Given the description of an element on the screen output the (x, y) to click on. 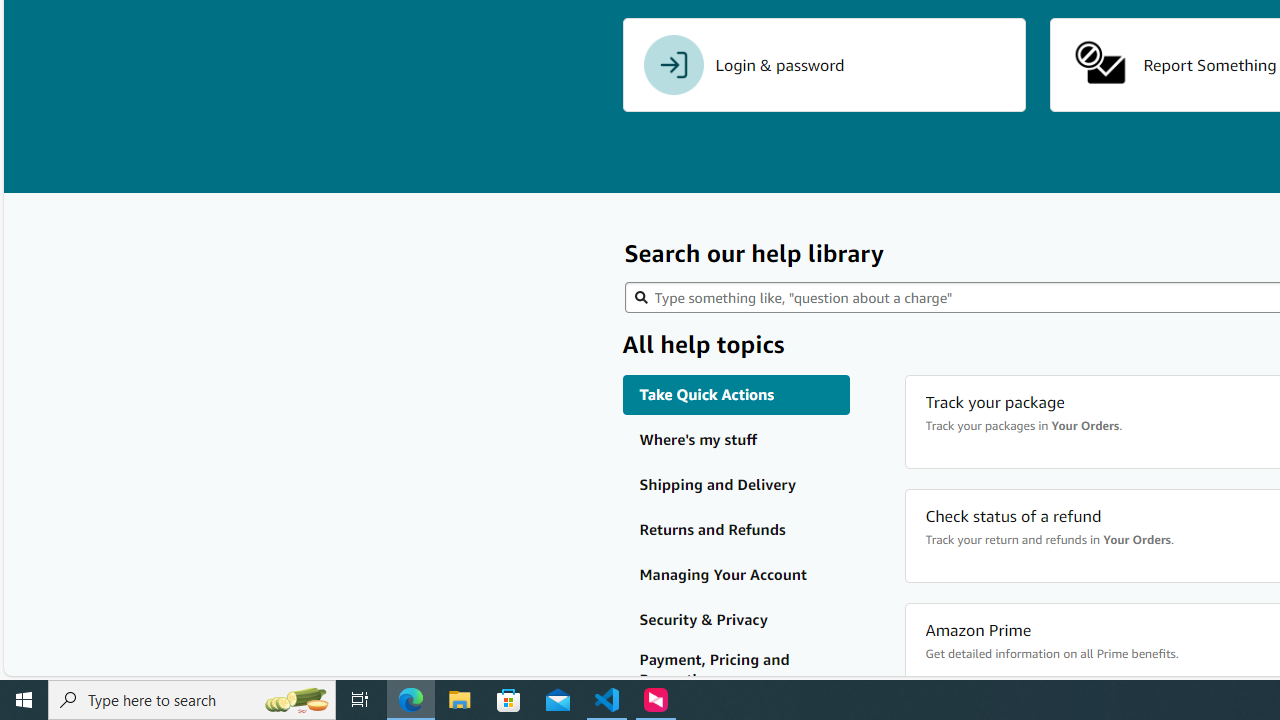
Class: help-topics (735, 669)
Login & password (824, 65)
